Given the description of an element on the screen output the (x, y) to click on. 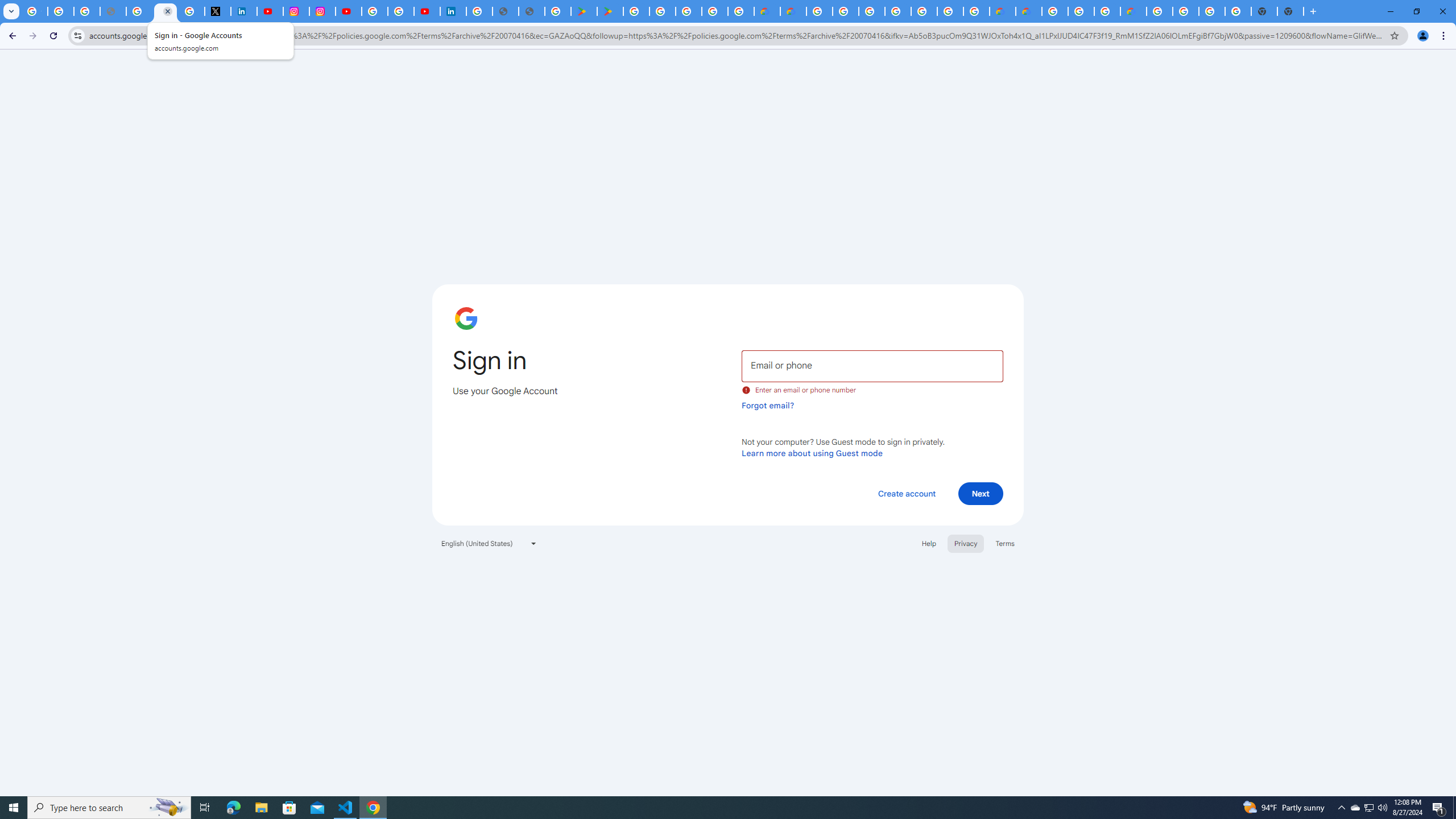
Customer Care | Google Cloud (1002, 11)
Customer Care | Google Cloud (766, 11)
English (United States) (489, 542)
X (217, 11)
Forgot email? (767, 404)
Sign in - Google Accounts (374, 11)
